Given the description of an element on the screen output the (x, y) to click on. 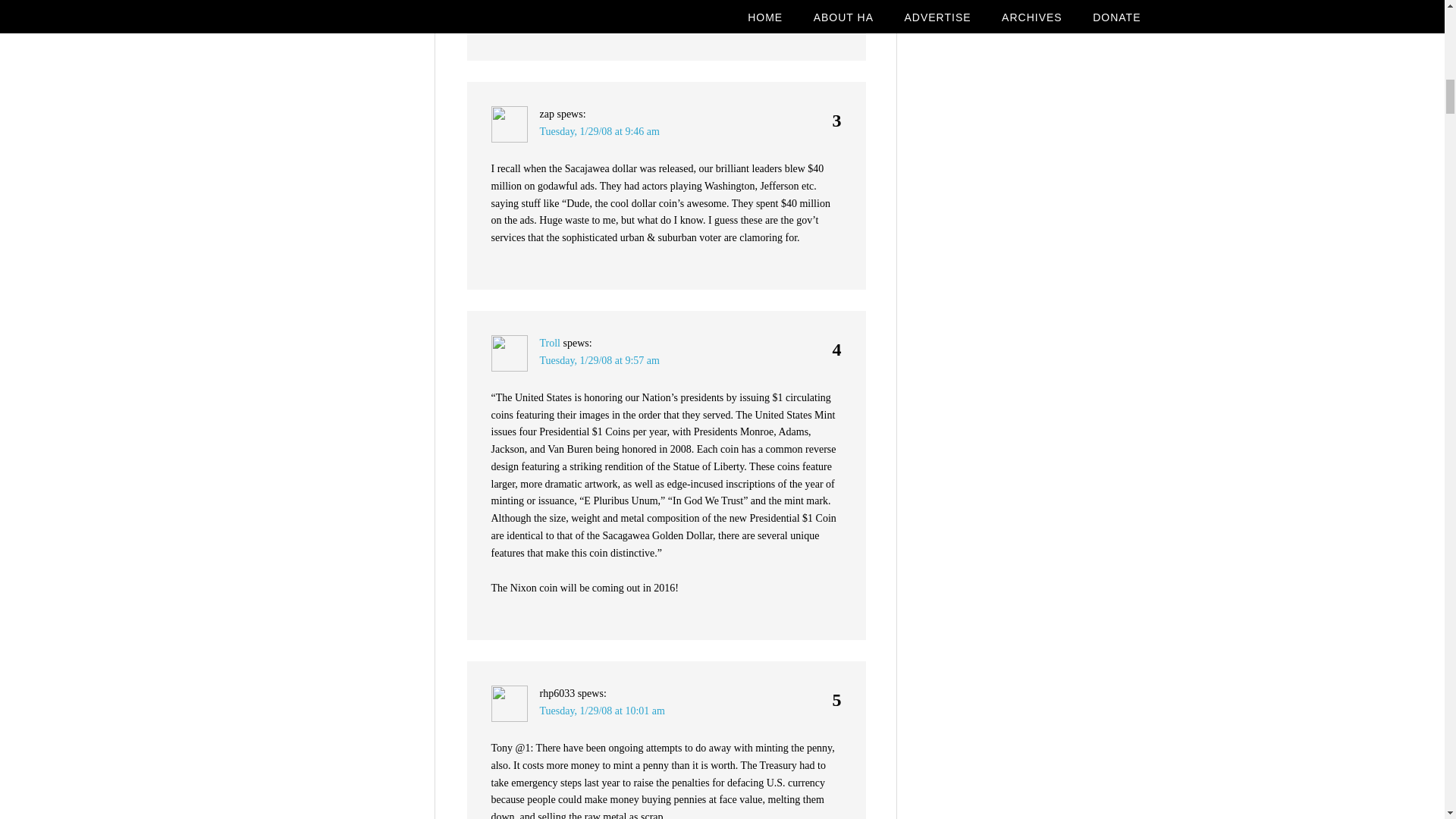
Troll (550, 342)
